Given the description of an element on the screen output the (x, y) to click on. 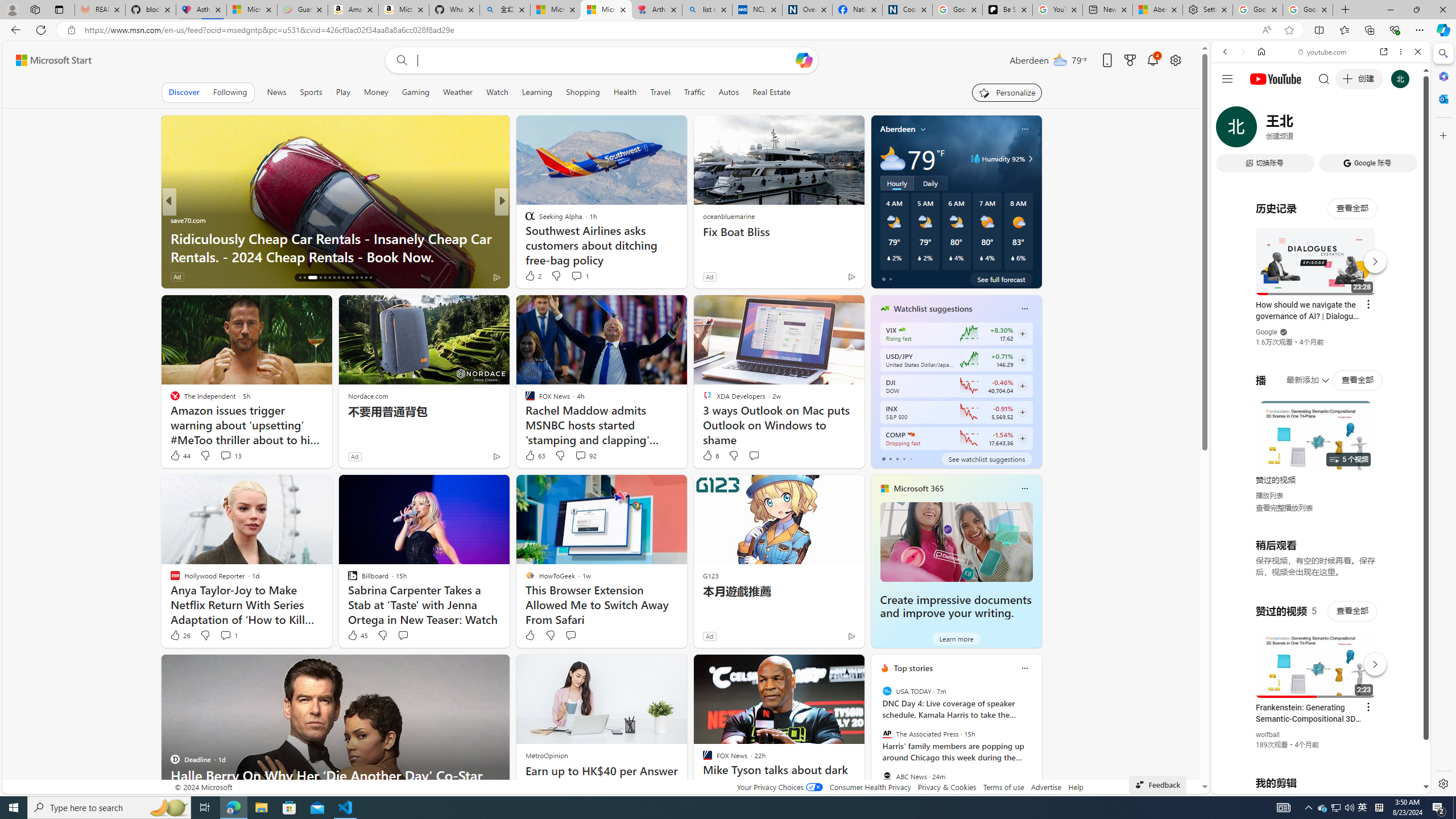
AutomationID: tab-25 (347, 277)
Be Smart | creating Science videos | Patreon (1006, 9)
71 Like (530, 276)
tab-4 (910, 458)
Cookies (907, 9)
AutomationID: tab-28 (361, 277)
Class: dict_pnIcon rms_img (1312, 784)
